Given the description of an element on the screen output the (x, y) to click on. 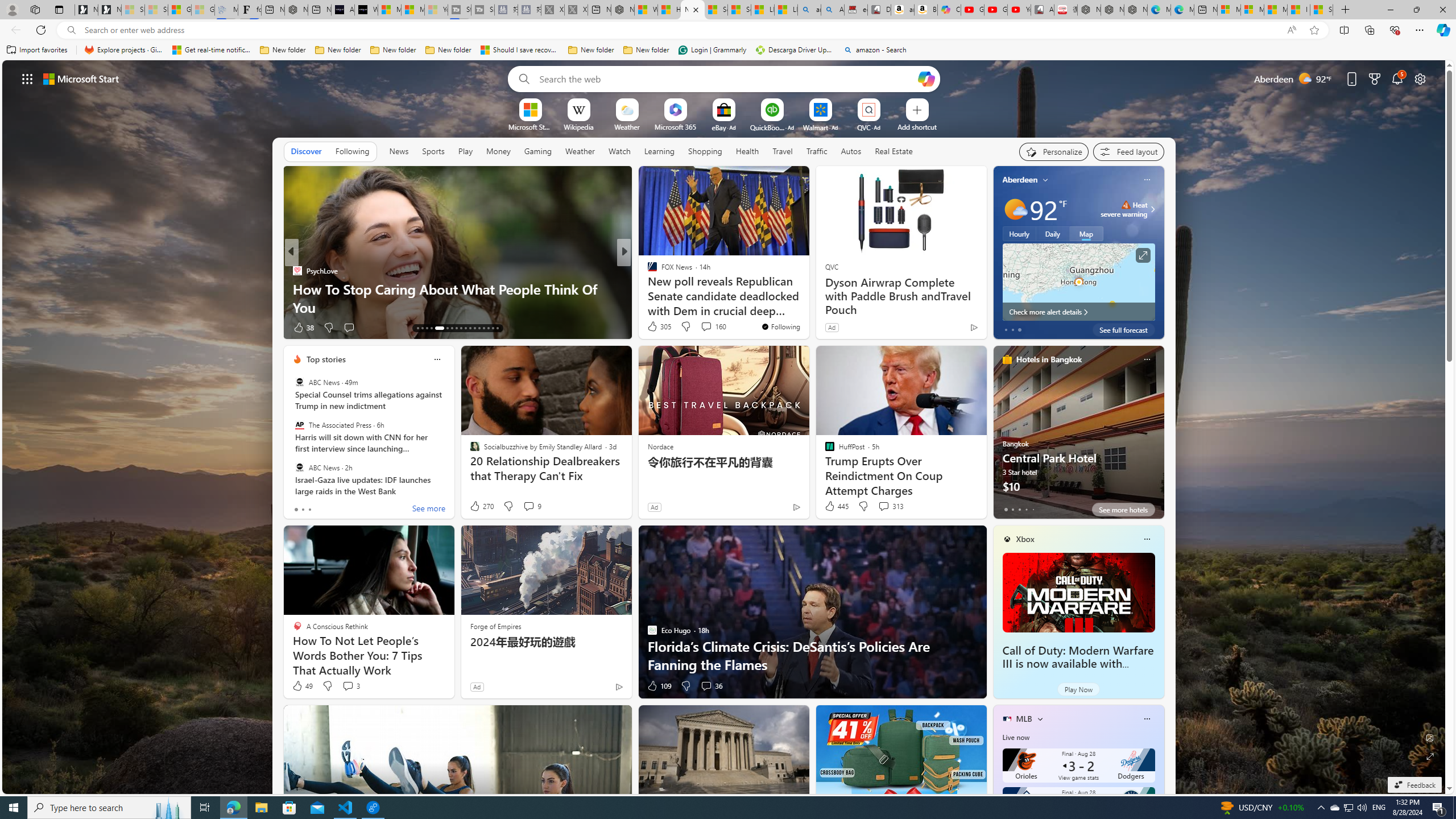
tab-4 (1032, 509)
Personalize your feed" (1054, 151)
Favorites bar (728, 49)
View comments 9 Comment (528, 505)
The Associated Press (299, 424)
Play Now (1078, 689)
Shopping (705, 151)
Top stories (325, 359)
